Given the description of an element on the screen output the (x, y) to click on. 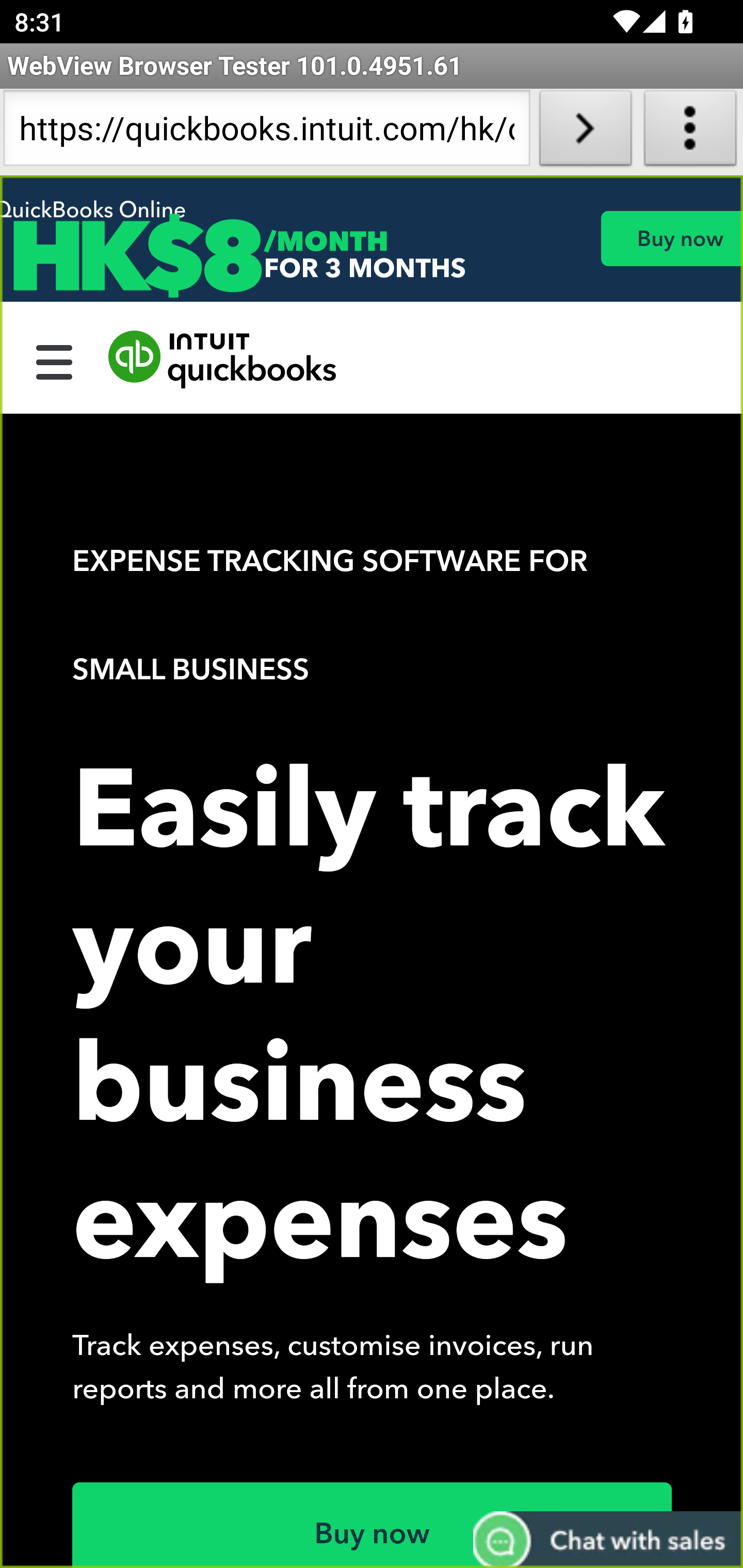
Load URL (585, 132)
About WebView (690, 132)
Buy now (671, 238)
quickbooks-mobile-burger (54, 359)
quickbooks (222, 359)
Buy now (372, 1524)
